Given the description of an element on the screen output the (x, y) to click on. 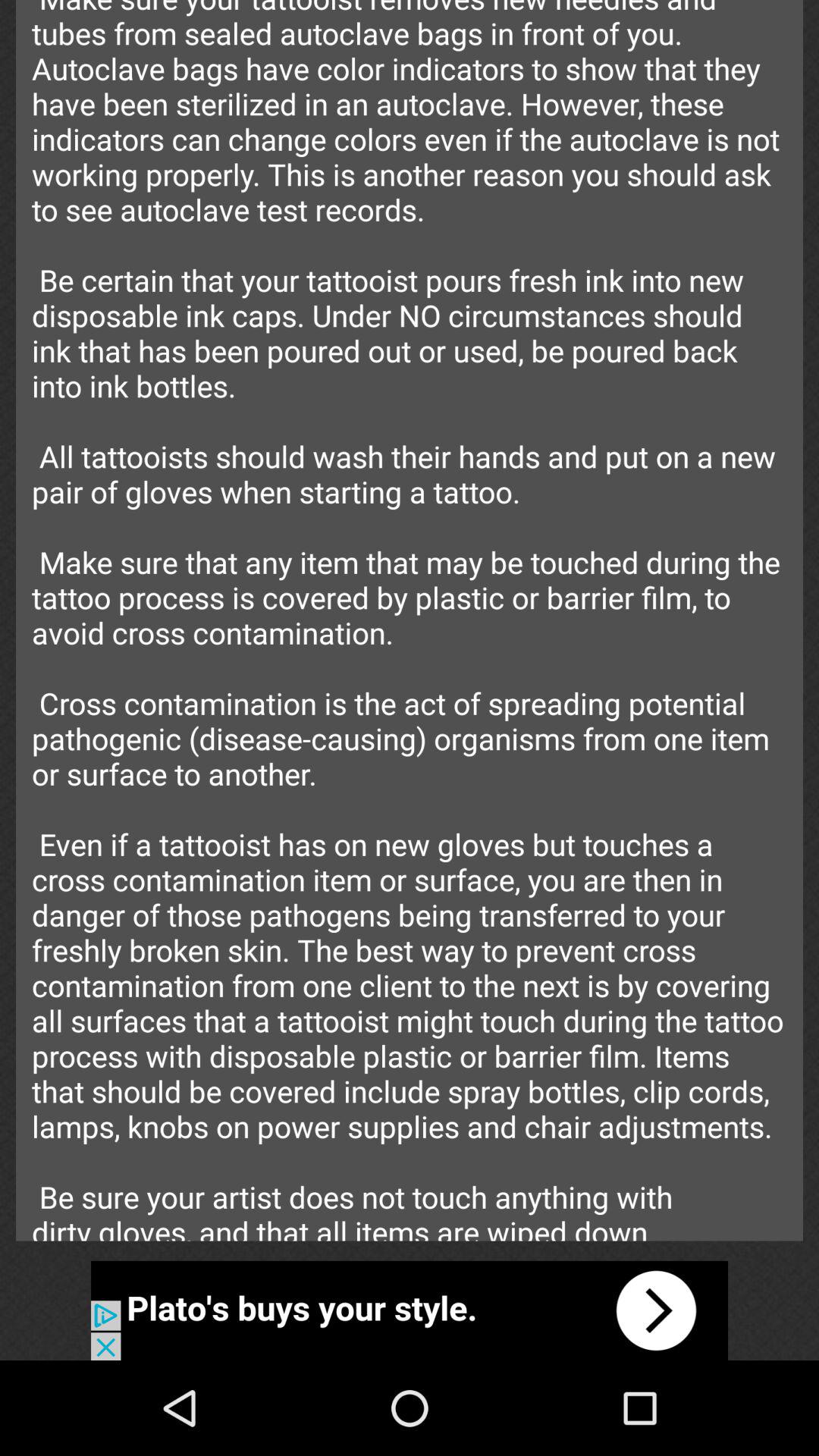
go next option (409, 1310)
